Given the description of an element on the screen output the (x, y) to click on. 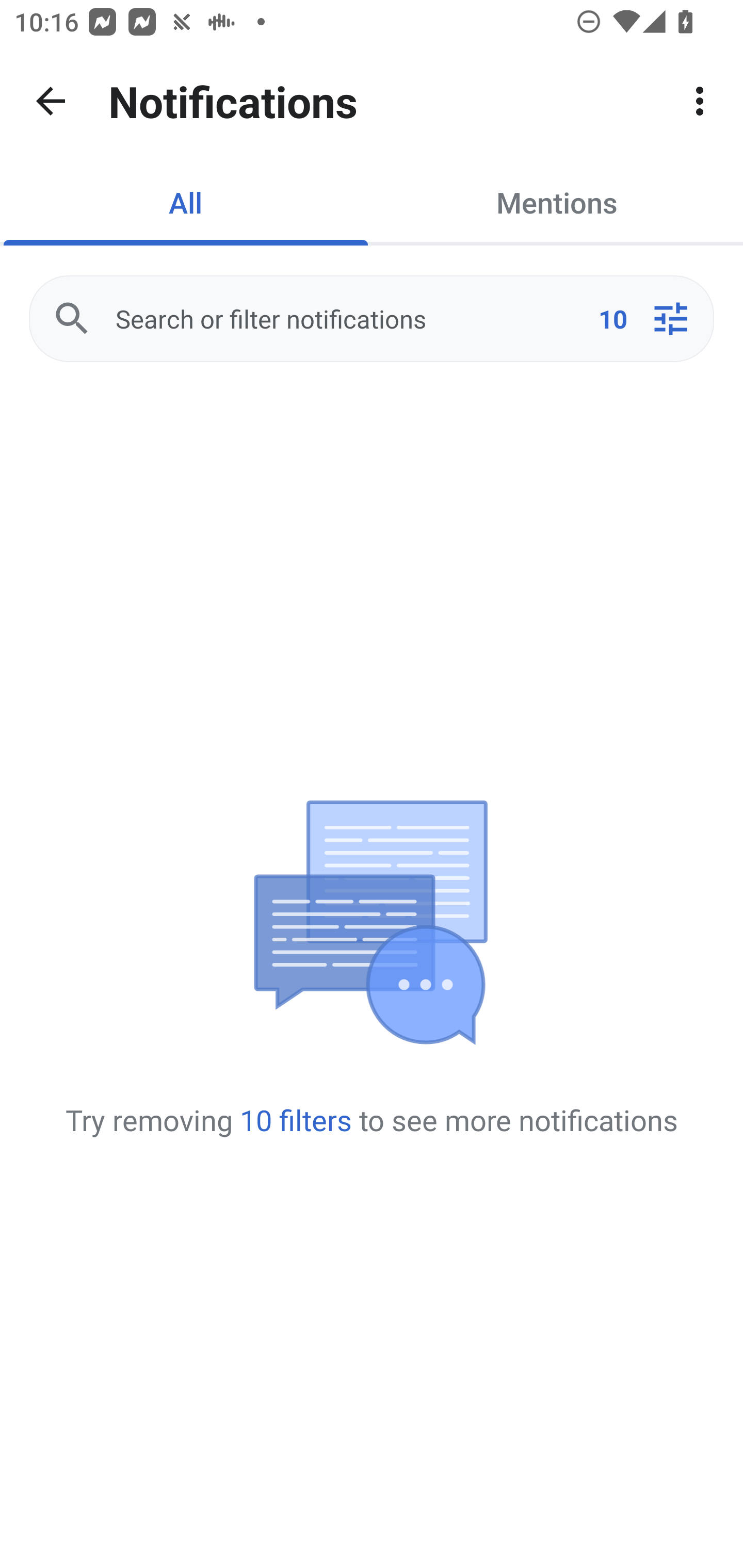
Navigate up (50, 101)
More (699, 101)
Mentions (557, 202)
Notification filter (670, 318)
